Given the description of an element on the screen output the (x, y) to click on. 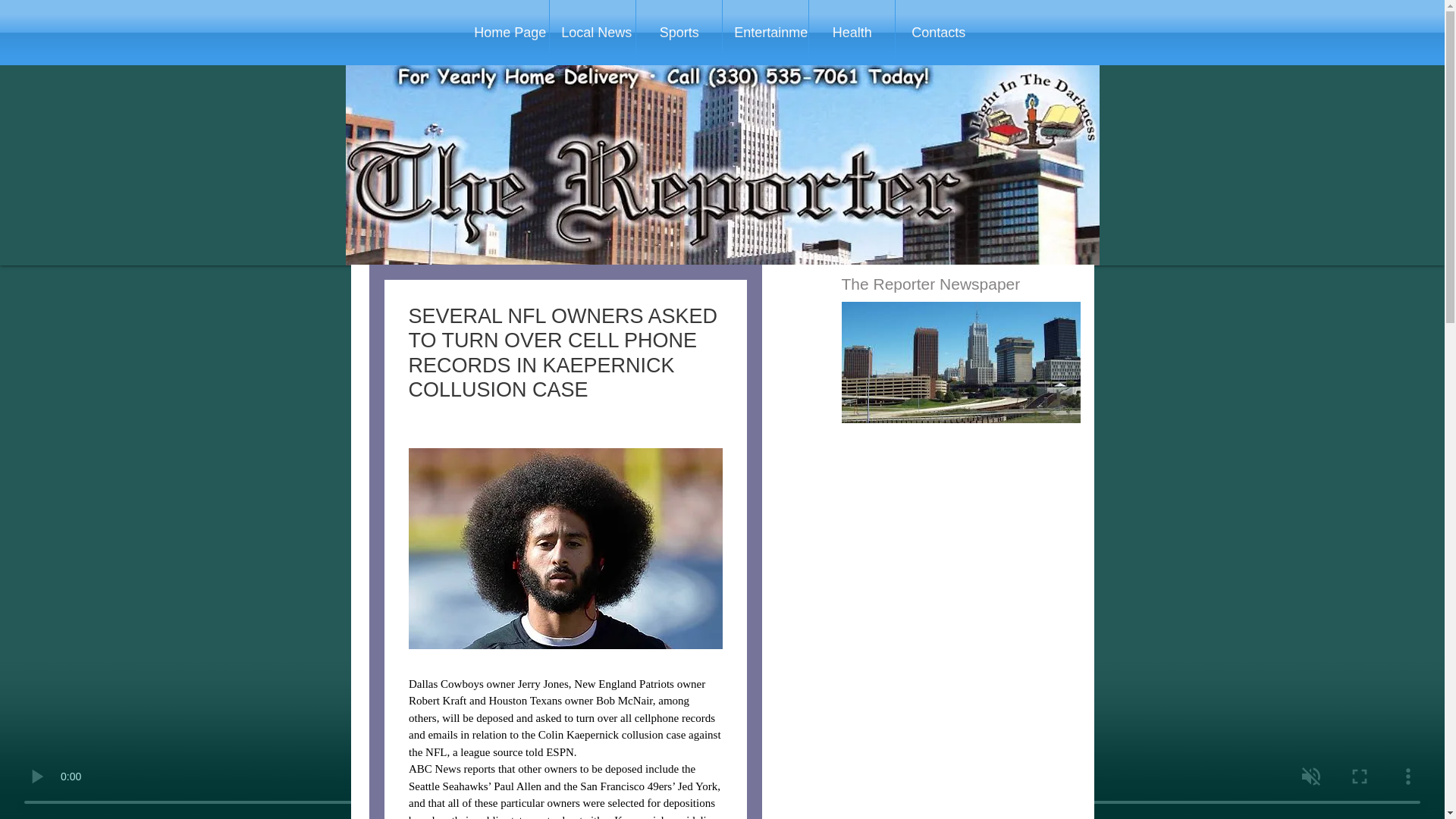
Entertainment (765, 32)
Sports (679, 32)
Home Page (505, 32)
Contacts (938, 32)
Local News (592, 32)
Health (852, 32)
